Given the description of an element on the screen output the (x, y) to click on. 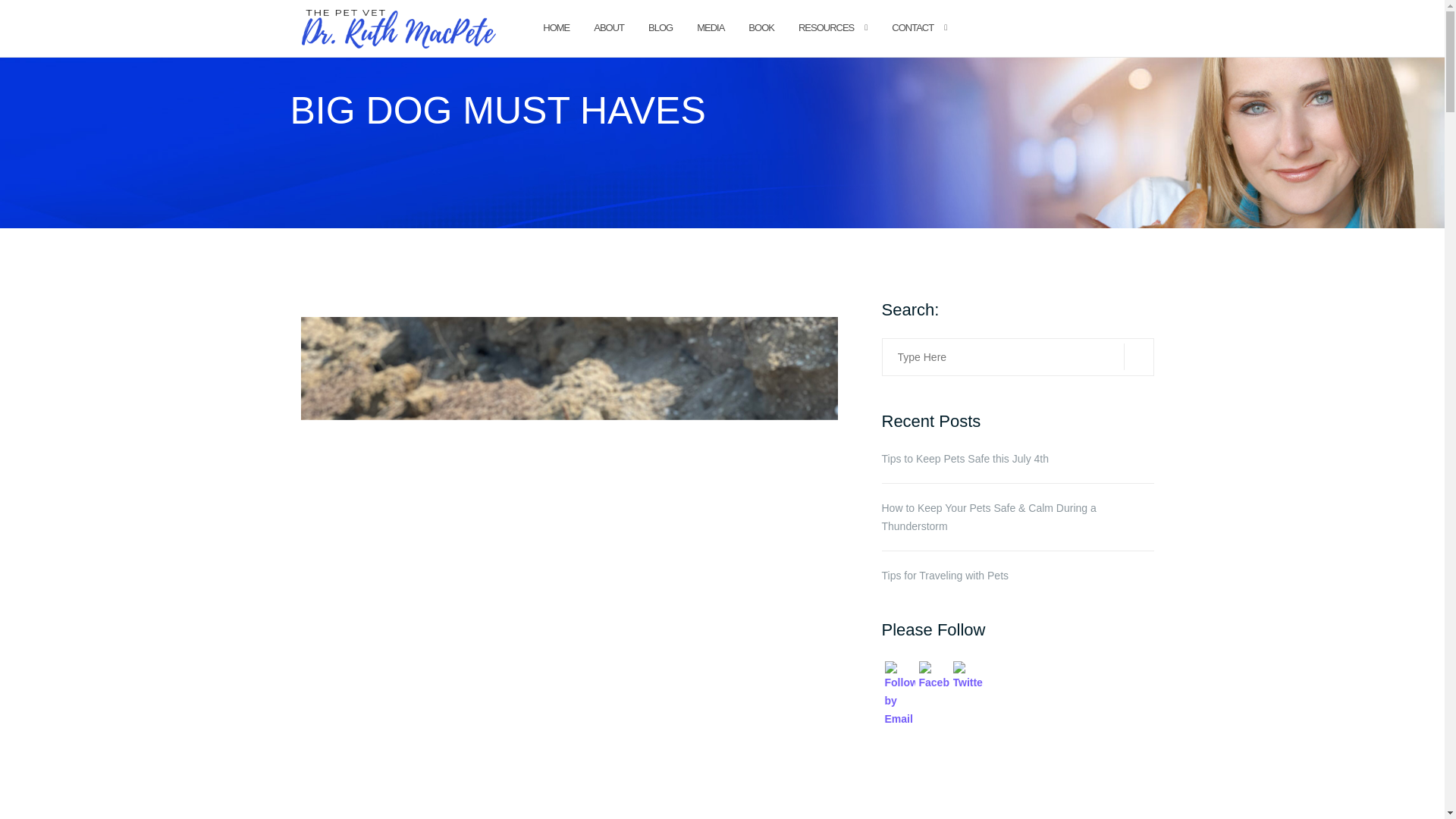
RESOURCES (825, 29)
CONTACT (912, 29)
Resources (825, 29)
Facebook (933, 675)
Contact (912, 29)
